Given the description of an element on the screen output the (x, y) to click on. 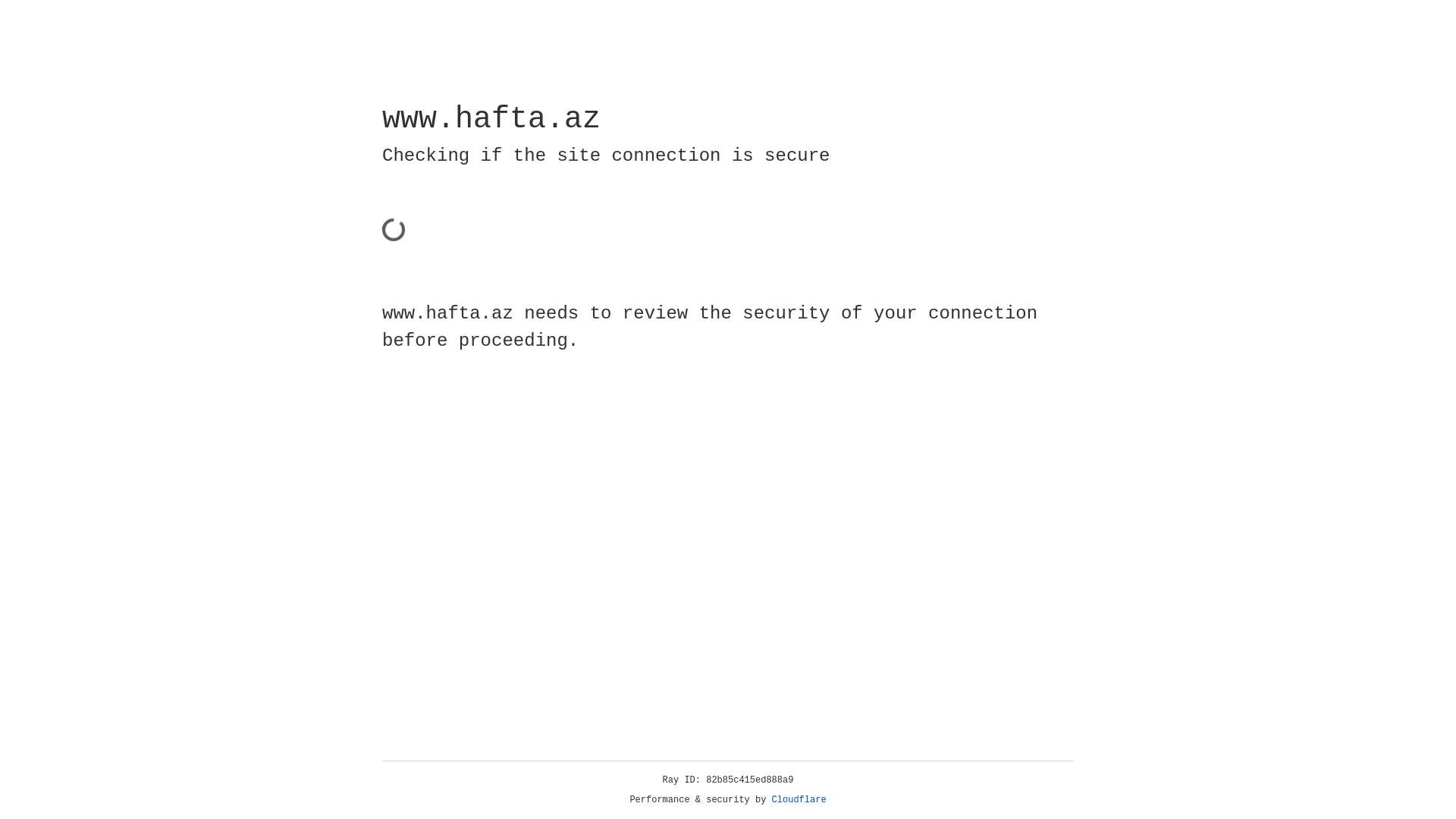
Cloudflare Element type: text (798, 799)
